Given the description of an element on the screen output the (x, y) to click on. 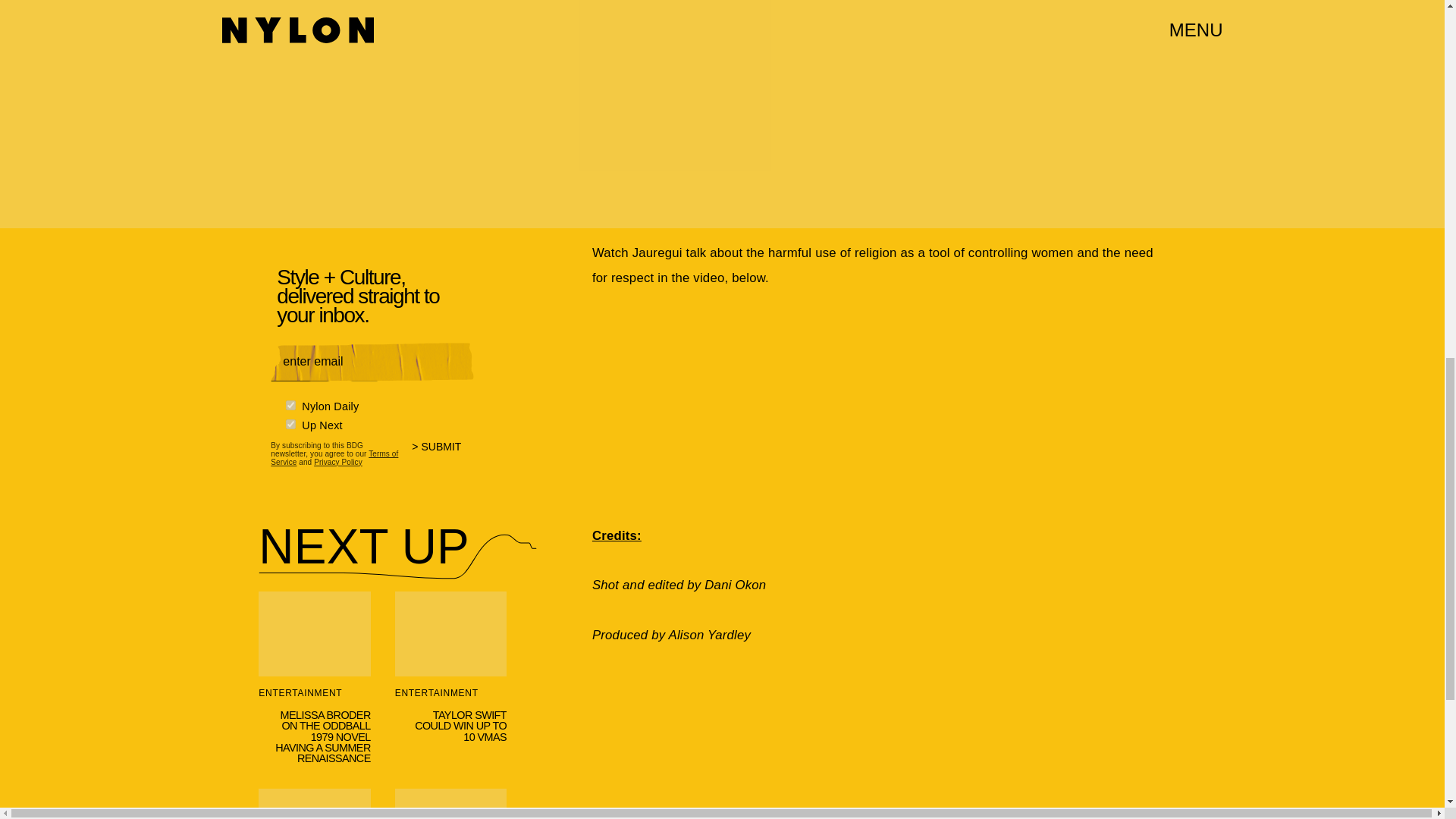
SUBMIT (443, 455)
Privacy Policy (338, 461)
Terms of Service (333, 457)
